Given the description of an element on the screen output the (x, y) to click on. 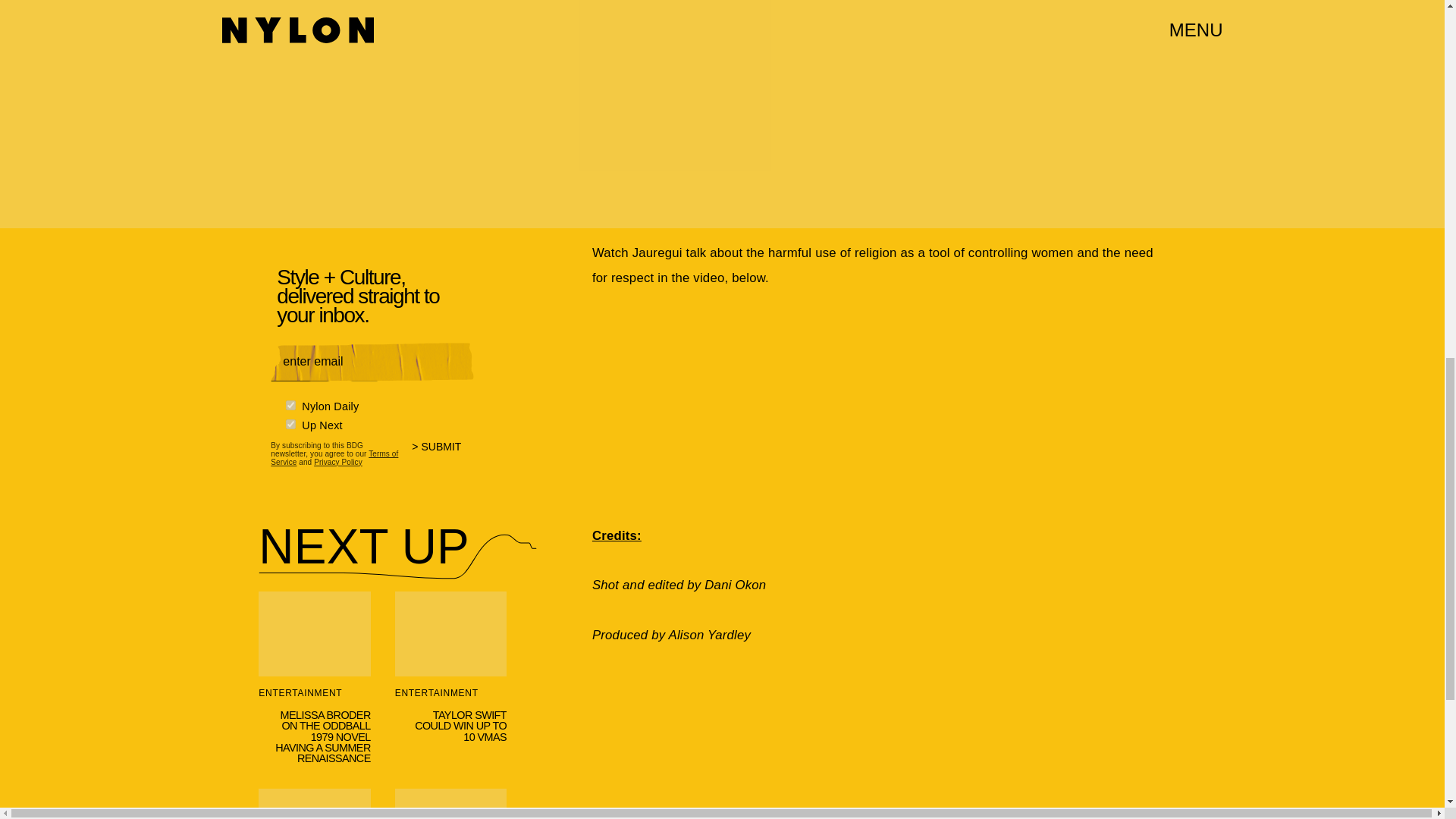
SUBMIT (443, 455)
Privacy Policy (338, 461)
Terms of Service (333, 457)
